Given the description of an element on the screen output the (x, y) to click on. 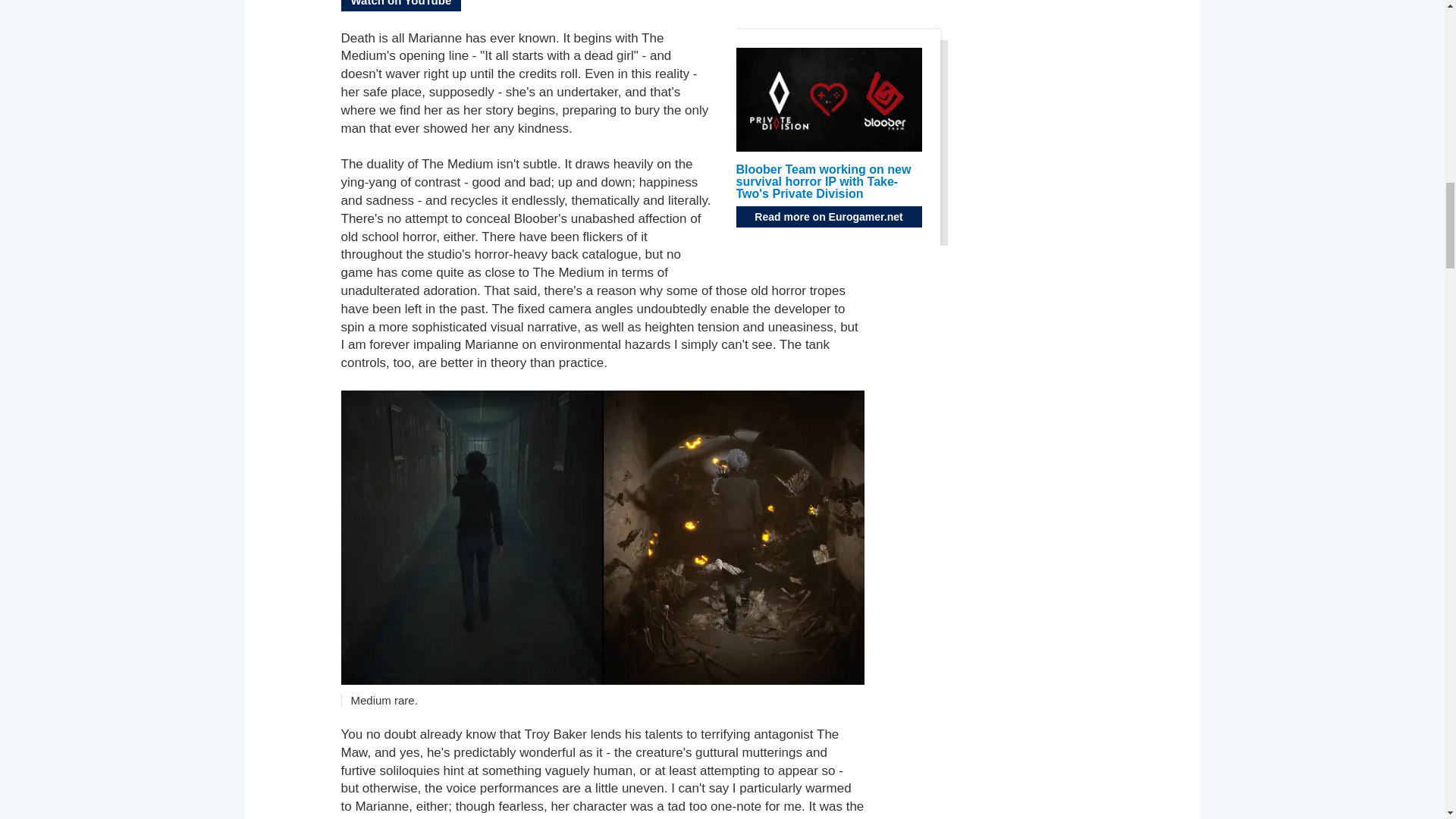
Read more on Eurogamer.net (828, 216)
Watch on YouTube (400, 5)
